Given the description of an element on the screen output the (x, y) to click on. 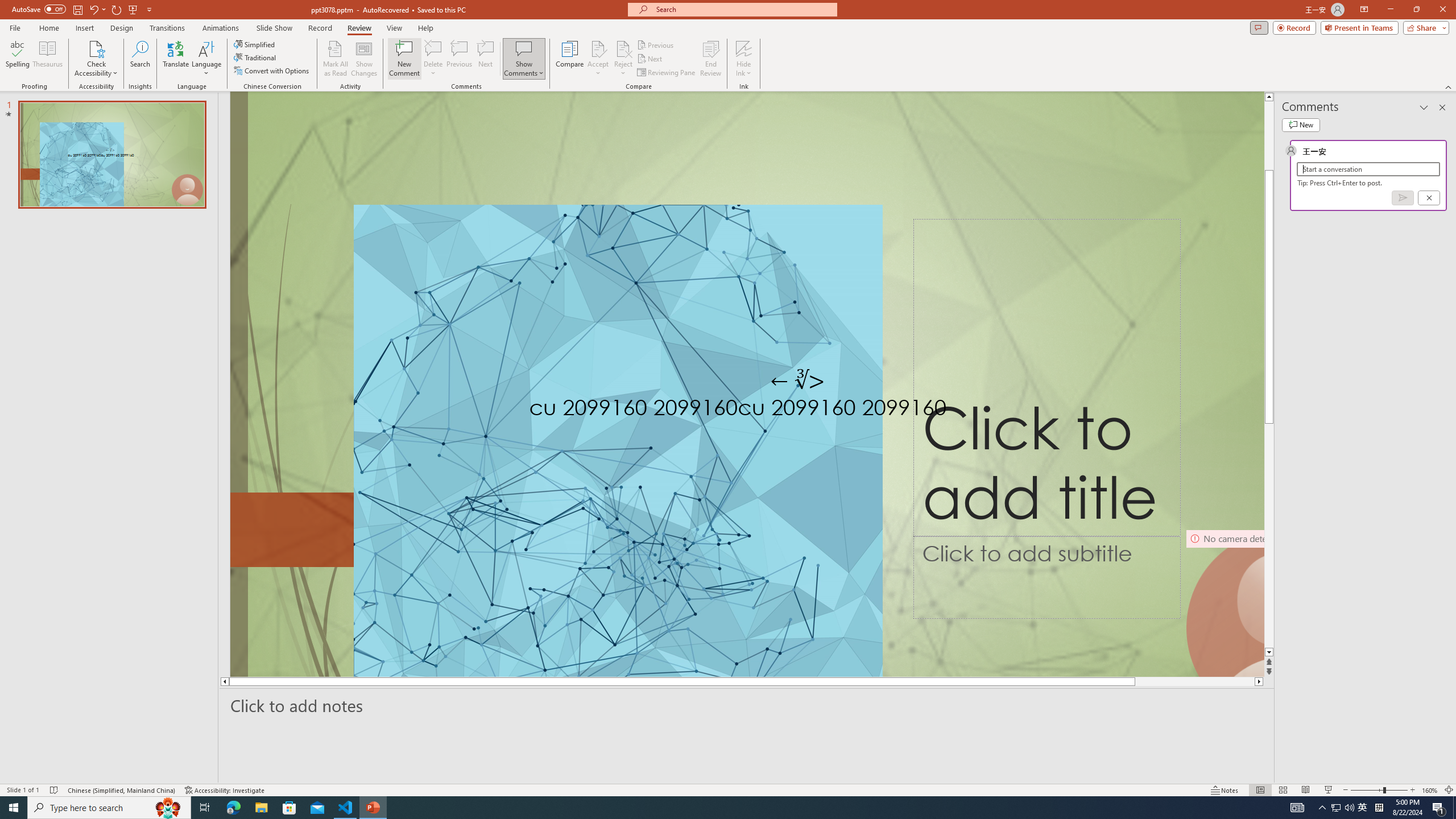
Compare (569, 58)
Cancel (1428, 197)
TextBox 61 (807, 410)
Convert with Options... (272, 69)
